Given the description of an element on the screen output the (x, y) to click on. 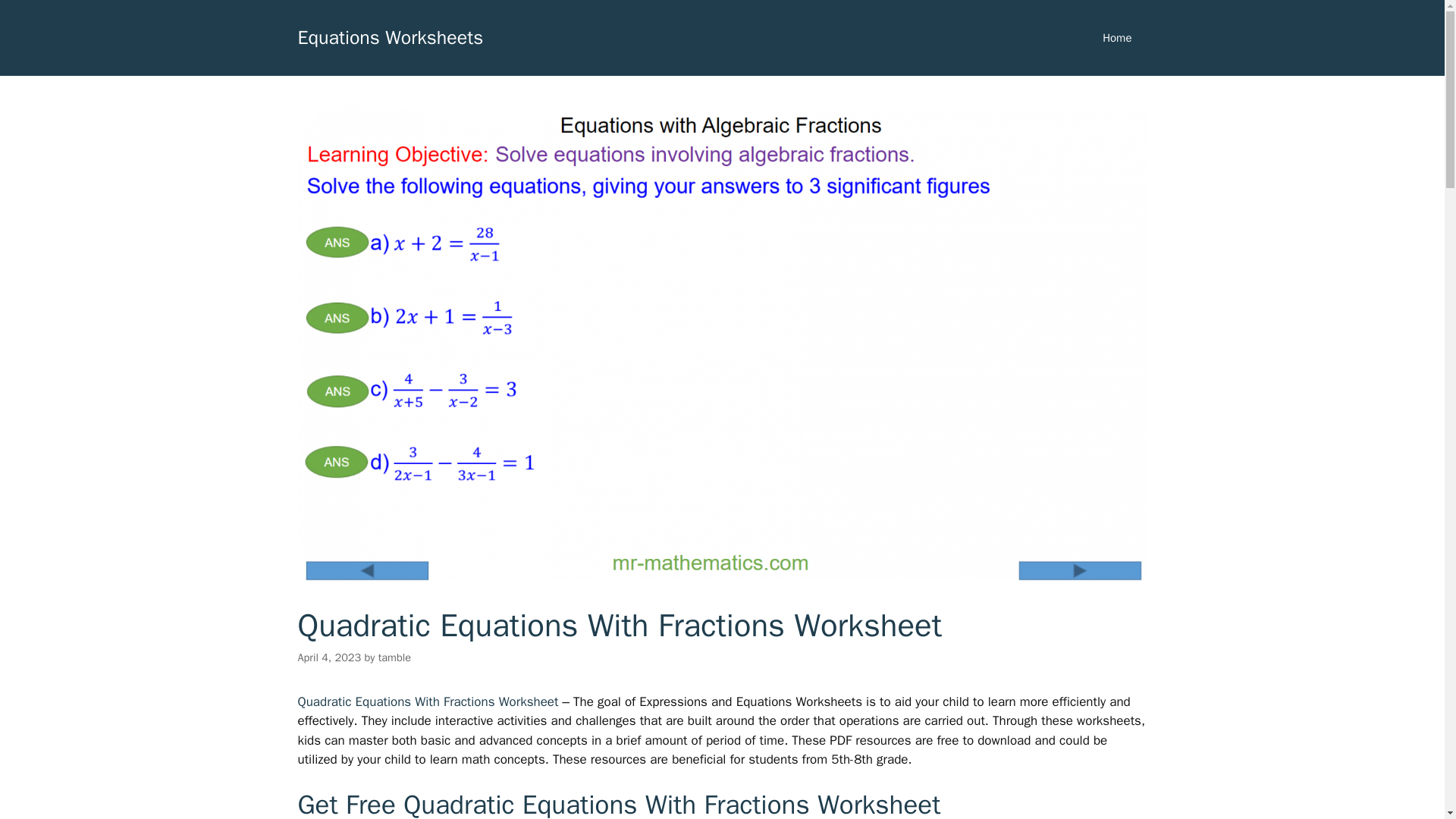
Equations Worksheets (390, 37)
tamble (394, 657)
Home (1117, 37)
View all posts by tamble (394, 657)
Quadratic Equations With Fractions Worksheet (429, 701)
